Given the description of an element on the screen output the (x, y) to click on. 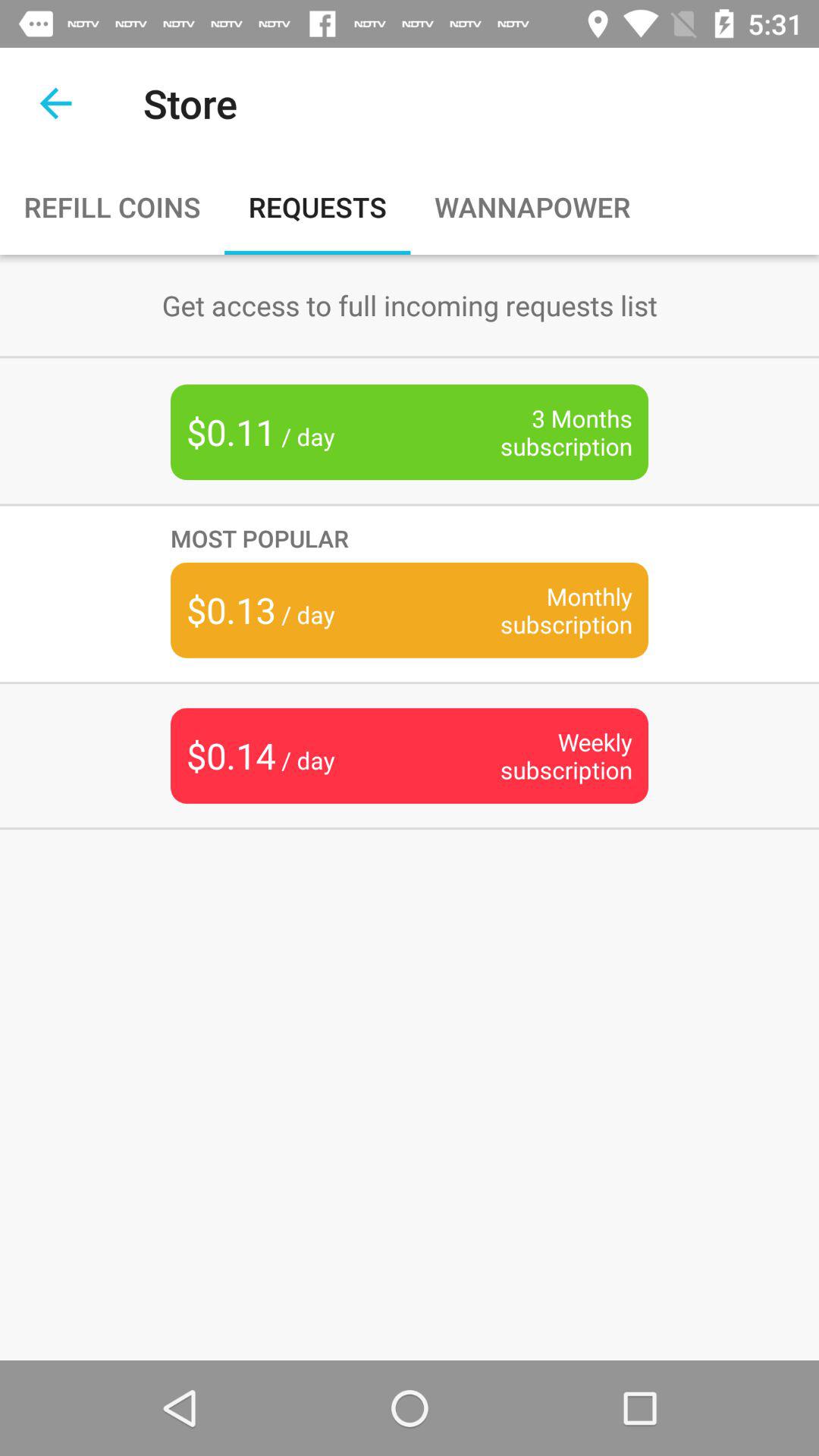
turn off the item to the right of $0.11 / day (543, 432)
